Given the description of an element on the screen output the (x, y) to click on. 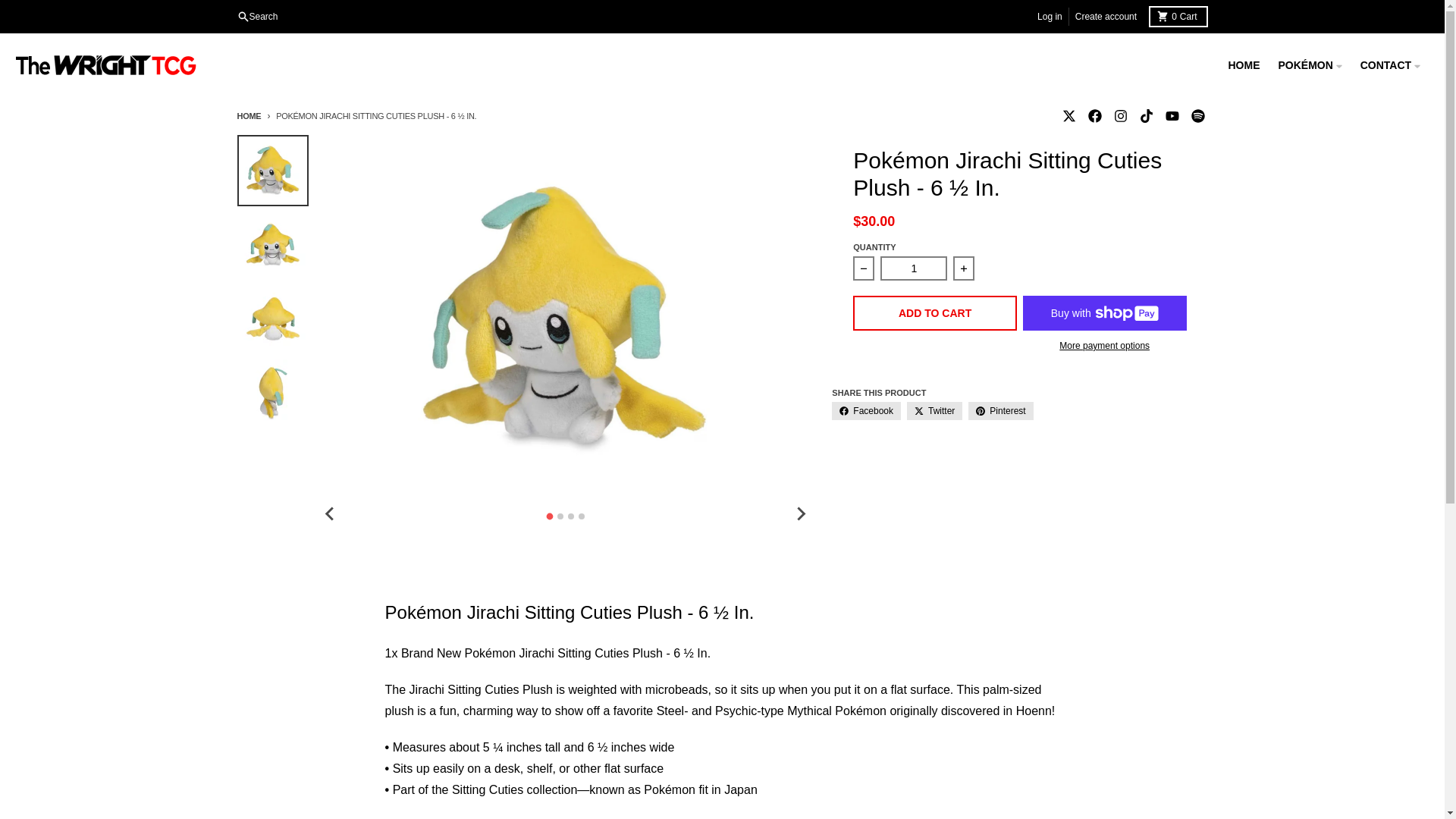
Back to the homepage (247, 115)
Search (1177, 16)
Facebook - The Wright TCG (256, 16)
YouTube - The Wright TCG (1093, 116)
Spotify - The Wright TCG (1170, 116)
1 (1197, 116)
TikTok - The Wright TCG (913, 268)
Instagram - The Wright TCG (1145, 116)
Create account (1119, 116)
Log in (1105, 16)
Twitter - The Wright TCG (1049, 16)
HOME (1068, 116)
